Given the description of an element on the screen output the (x, y) to click on. 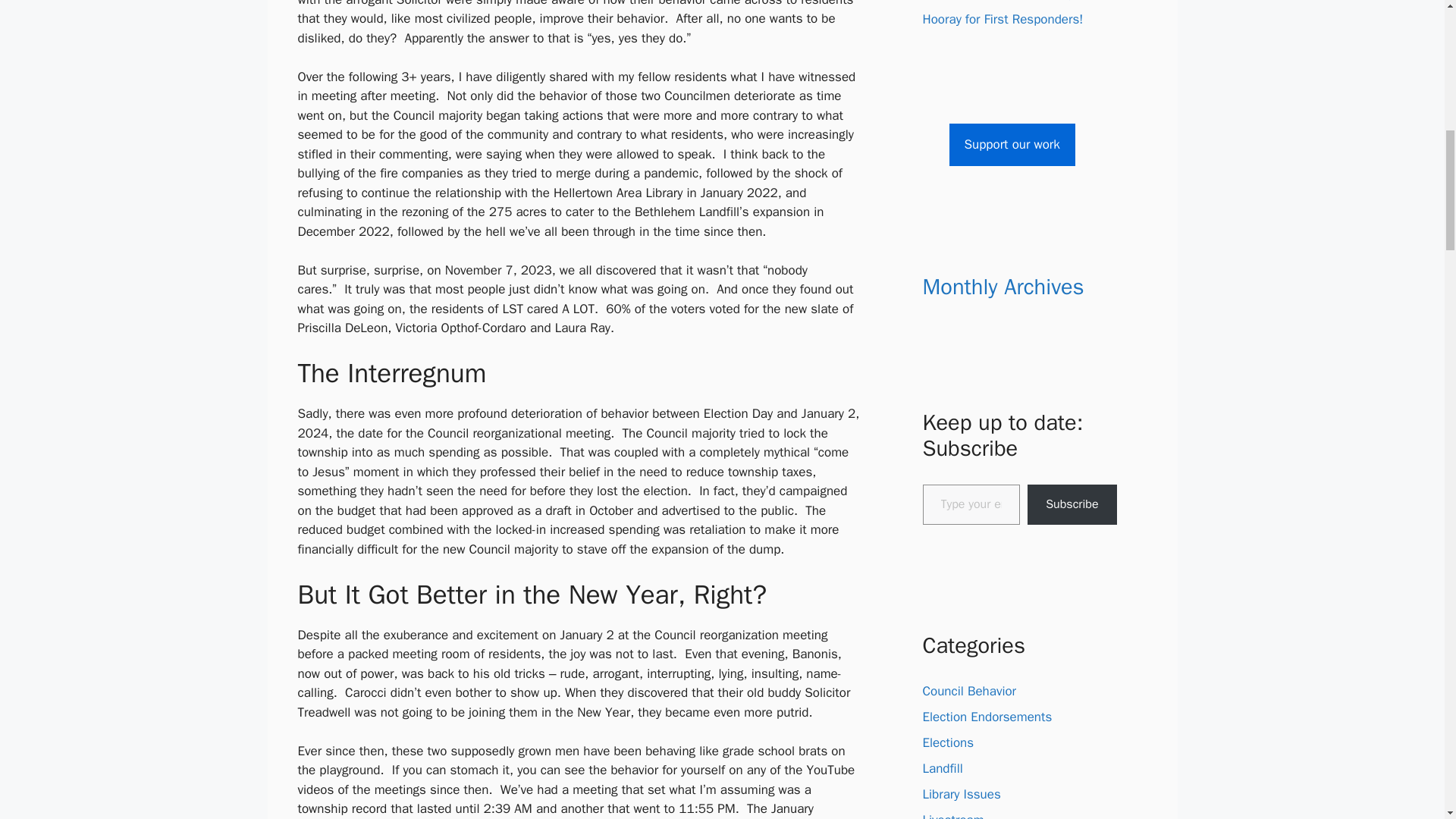
Support our work (1012, 144)
Elections (947, 742)
Subscribe (1071, 504)
Library Issues (960, 794)
Please fill in this field. (970, 504)
Livestream (952, 815)
Election Endorsements (986, 716)
Scroll back to top (1406, 720)
Landfill (941, 768)
Hooray for First Responders! (1002, 19)
